Given the description of an element on the screen output the (x, y) to click on. 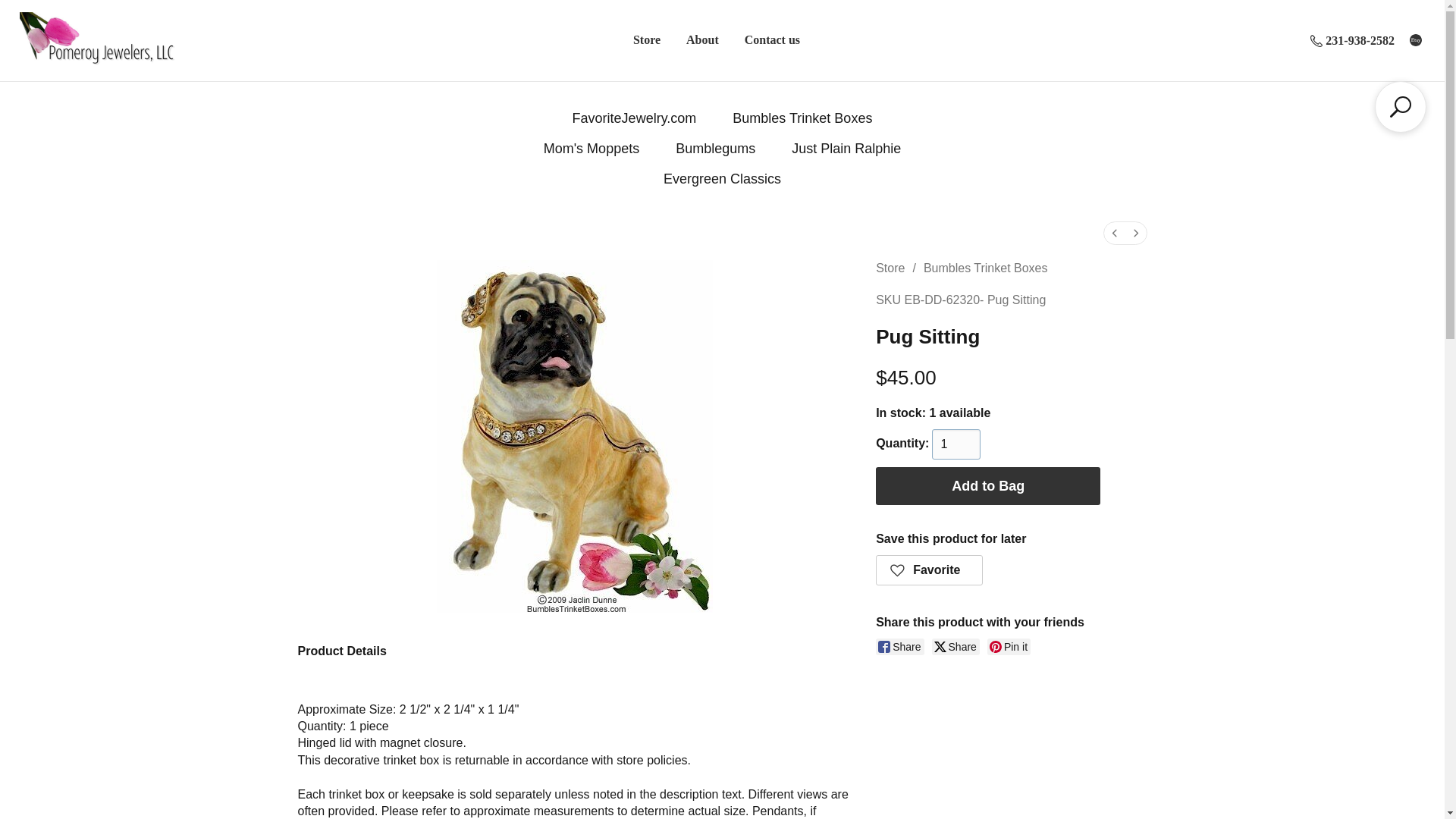
Contact us (771, 39)
Add to Bag (988, 485)
Pug Sitting (574, 436)
FavoriteJewelry.com (634, 118)
231-938-2582 (1352, 40)
Just Plain Ralphie (846, 148)
Favorite (929, 570)
Share (899, 646)
Bumbles Trinket Boxes (802, 118)
Store (646, 39)
Store (890, 267)
Evergreen Classics (721, 178)
Mom's Moppets (591, 148)
Bumblegums (715, 148)
About (702, 39)
